Given the description of an element on the screen output the (x, y) to click on. 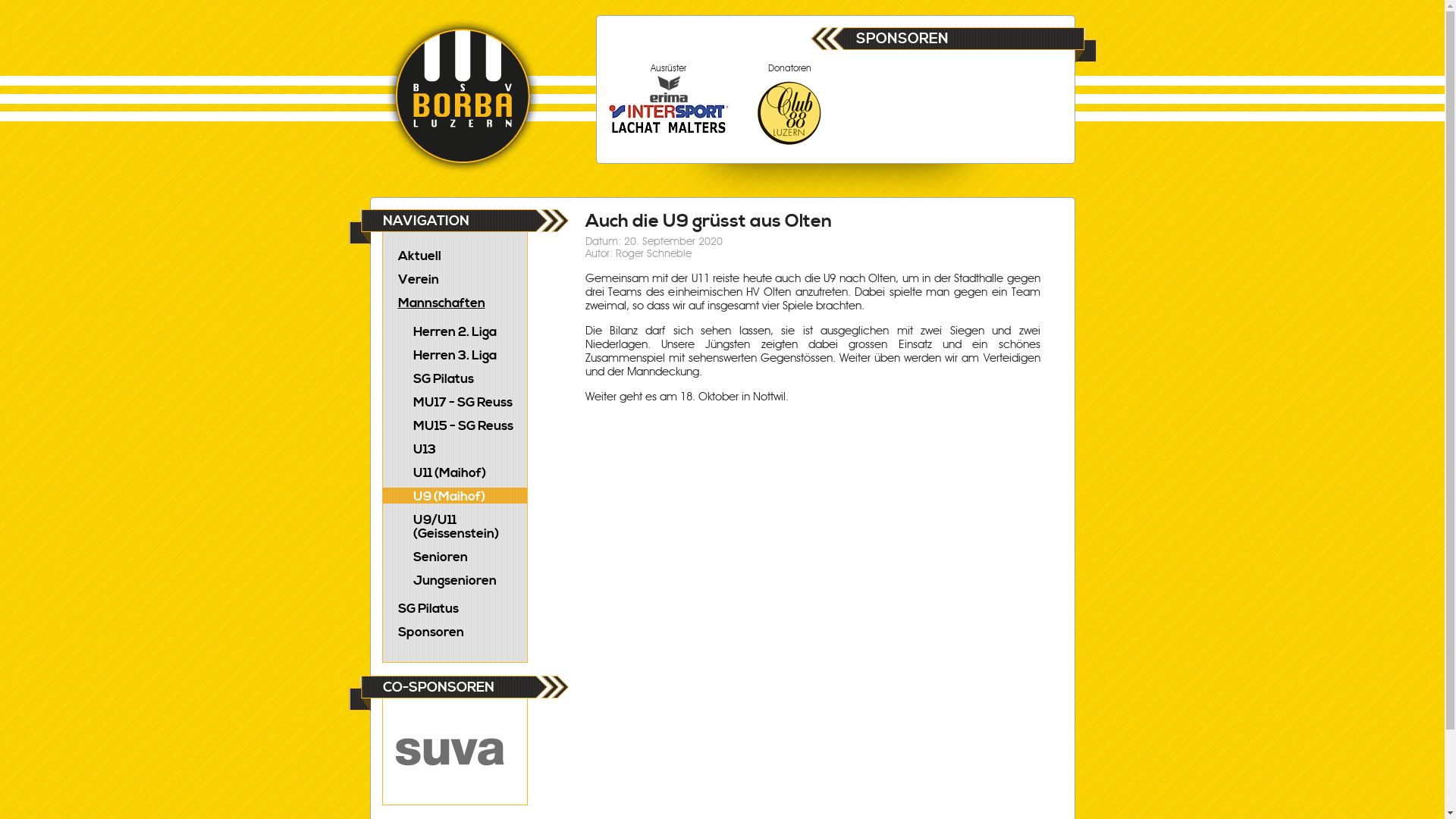
MU17 - SG Reuss Element type: text (454, 400)
U11 (Maihof) Element type: text (454, 472)
Sponsoren Element type: text (454, 631)
Jungsenioren Element type: text (454, 579)
U9/U11 (Geissenstein) Element type: text (454, 525)
Herren 3. Liga Element type: text (454, 353)
Aktuell Element type: text (454, 255)
MU15 - SG Reuss Element type: text (454, 425)
Herren 2. Liga Element type: text (454, 330)
Mannschaften Element type: text (454, 302)
Senioren Element type: text (454, 555)
SG Pilatus Element type: text (454, 377)
Verein Element type: text (454, 278)
U13 Element type: text (454, 447)
U9 (Maihof) Element type: text (454, 494)
SG Pilatus Element type: text (454, 607)
